Given the description of an element on the screen output the (x, y) to click on. 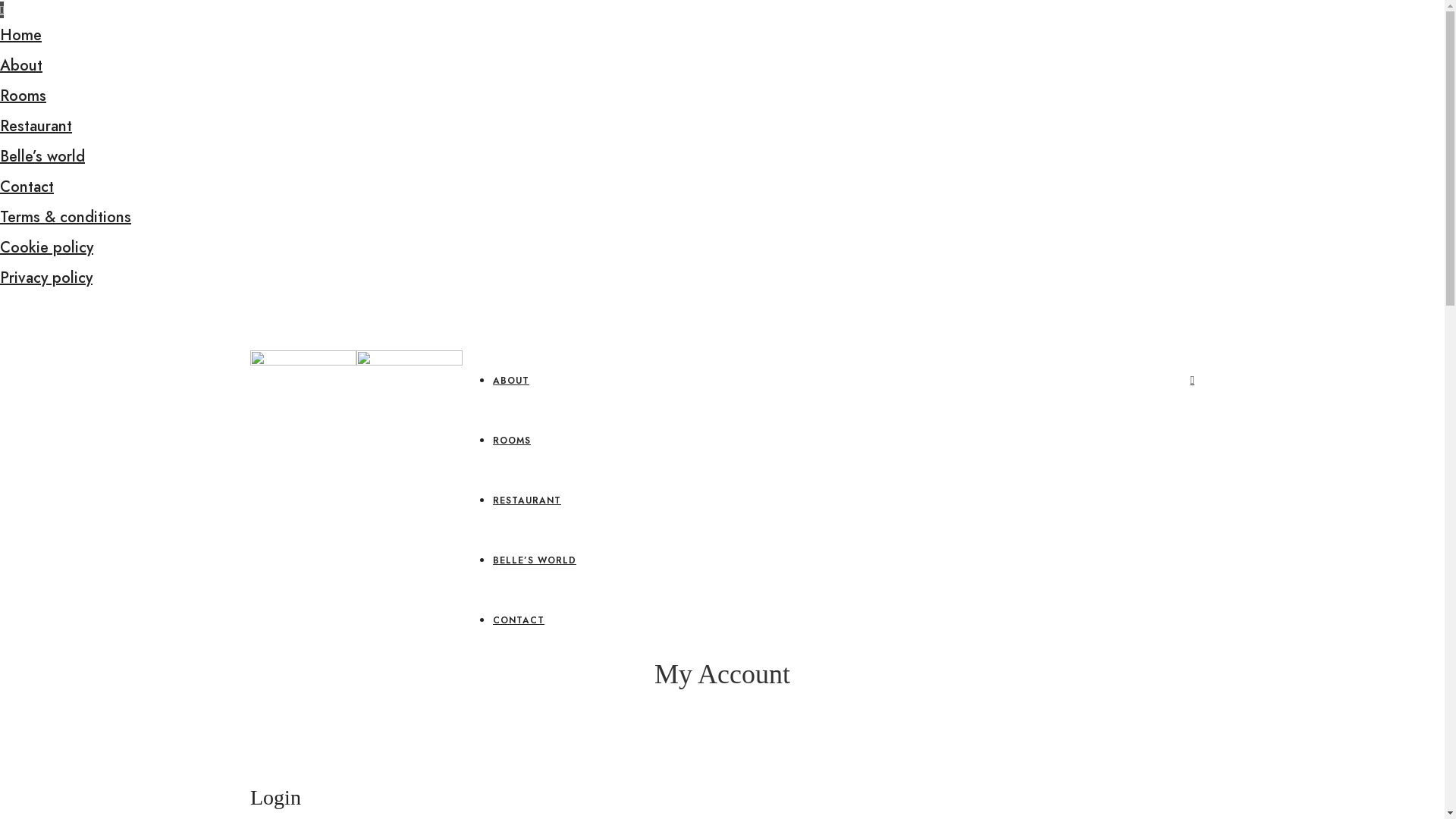
Contact Element type: text (26, 186)
Home Element type: text (20, 35)
CONTACT Element type: text (518, 620)
Terms & conditions Element type: text (65, 217)
About Element type: text (21, 65)
Restaurant Element type: text (36, 126)
Cookie policy Element type: text (46, 247)
ABOUT Element type: text (510, 380)
RESTAURANT Element type: text (526, 500)
ROOMS Element type: text (511, 440)
Privacy policy Element type: text (46, 277)
Rooms Element type: text (23, 95)
